Given the description of an element on the screen output the (x, y) to click on. 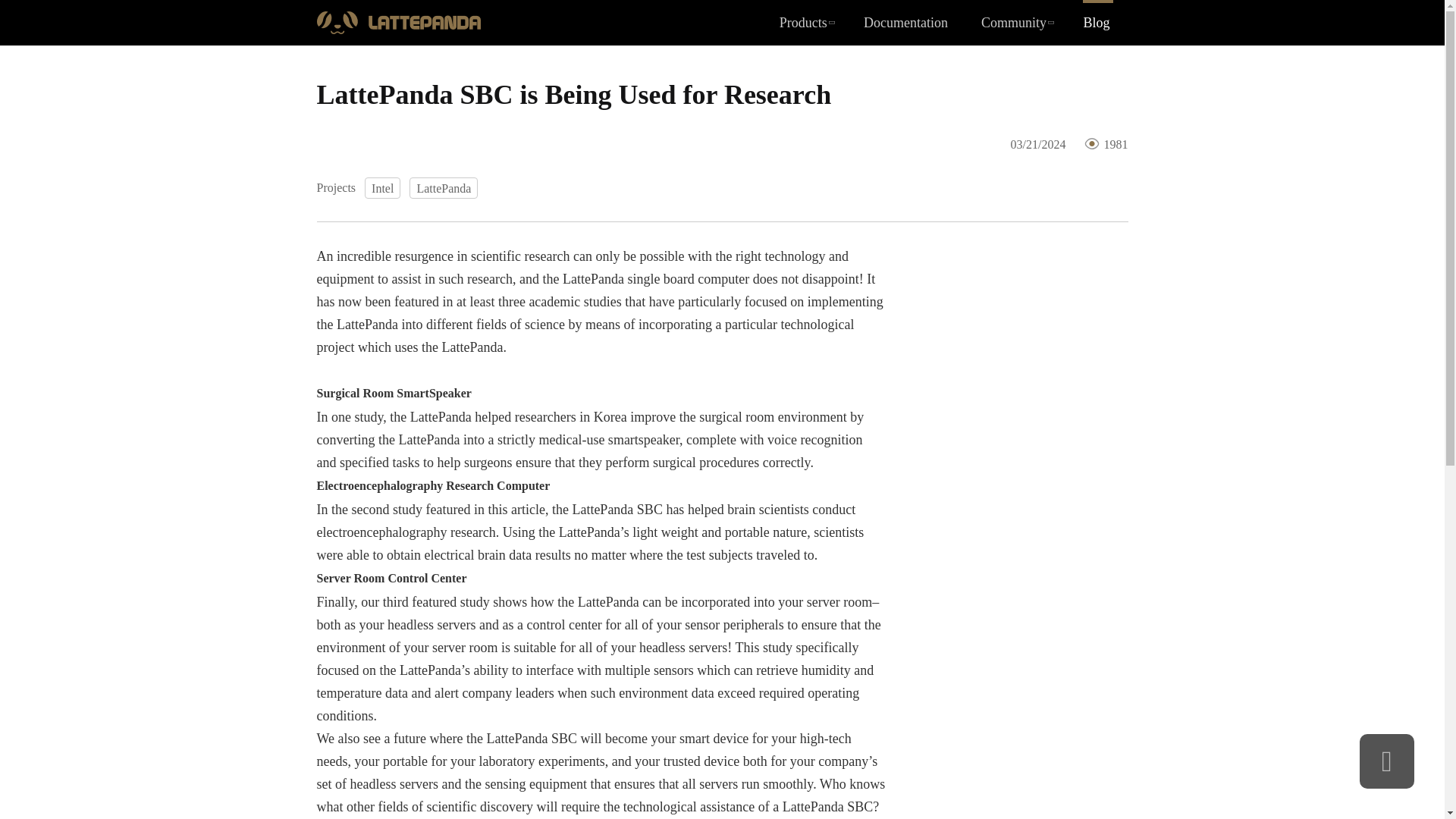
Products (805, 22)
Documentation (906, 22)
Community (1016, 22)
